Given the description of an element on the screen output the (x, y) to click on. 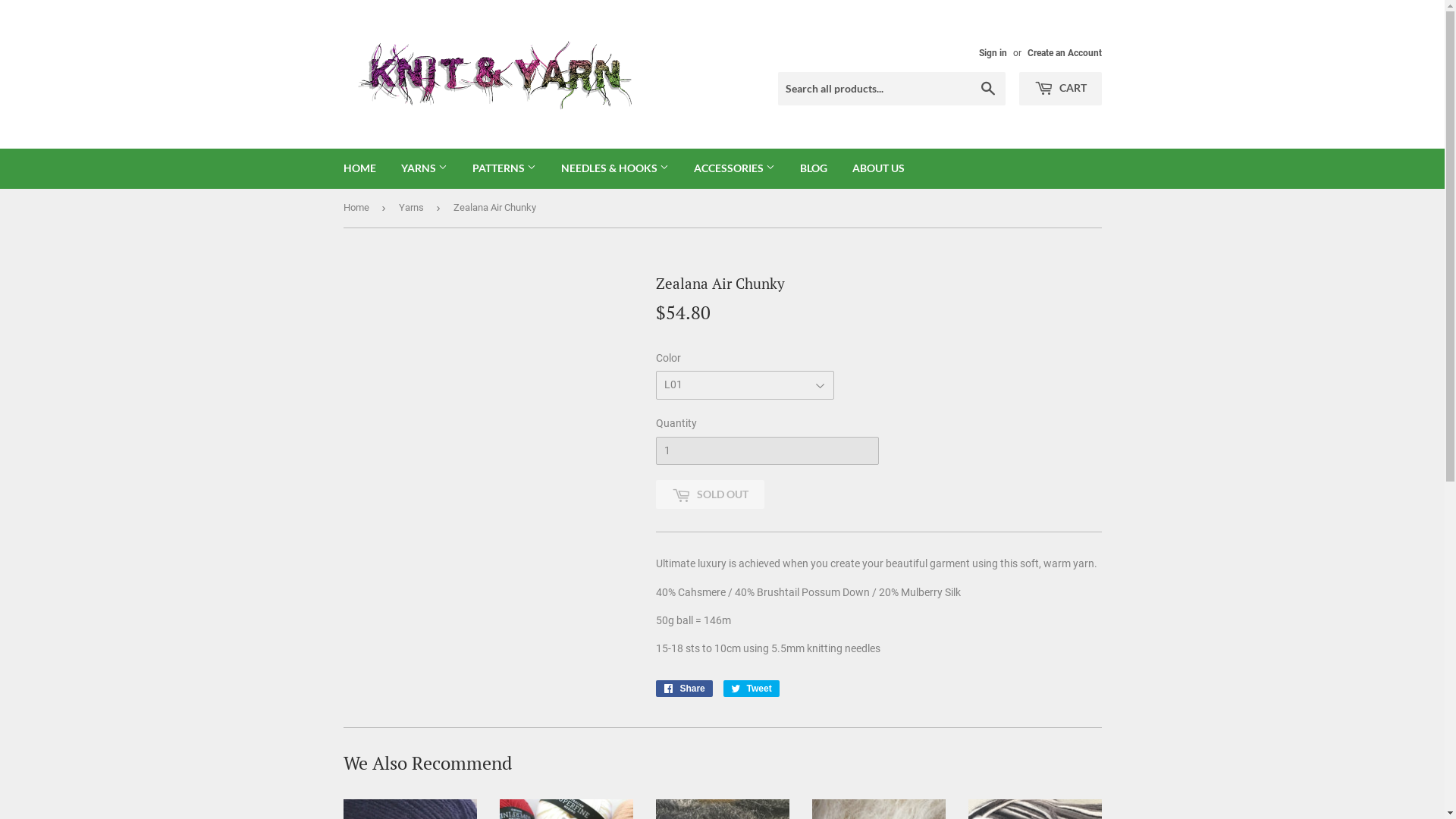
Create an Account Element type: text (1063, 52)
ABOUT US Element type: text (877, 168)
BLOG Element type: text (813, 168)
Yarns Element type: text (413, 207)
Share
Share on Facebook Element type: text (683, 688)
CART Element type: text (1060, 88)
HOME Element type: text (359, 168)
YARNS Element type: text (423, 168)
Home Element type: text (357, 207)
Sign in Element type: text (992, 52)
Tweet
Tweet on Twitter Element type: text (751, 688)
SOLD OUT Element type: text (709, 494)
Search Element type: text (987, 89)
NEEDLES & HOOKS Element type: text (614, 168)
ACCESSORIES Element type: text (734, 168)
PATTERNS Element type: text (504, 168)
